Given the description of an element on the screen output the (x, y) to click on. 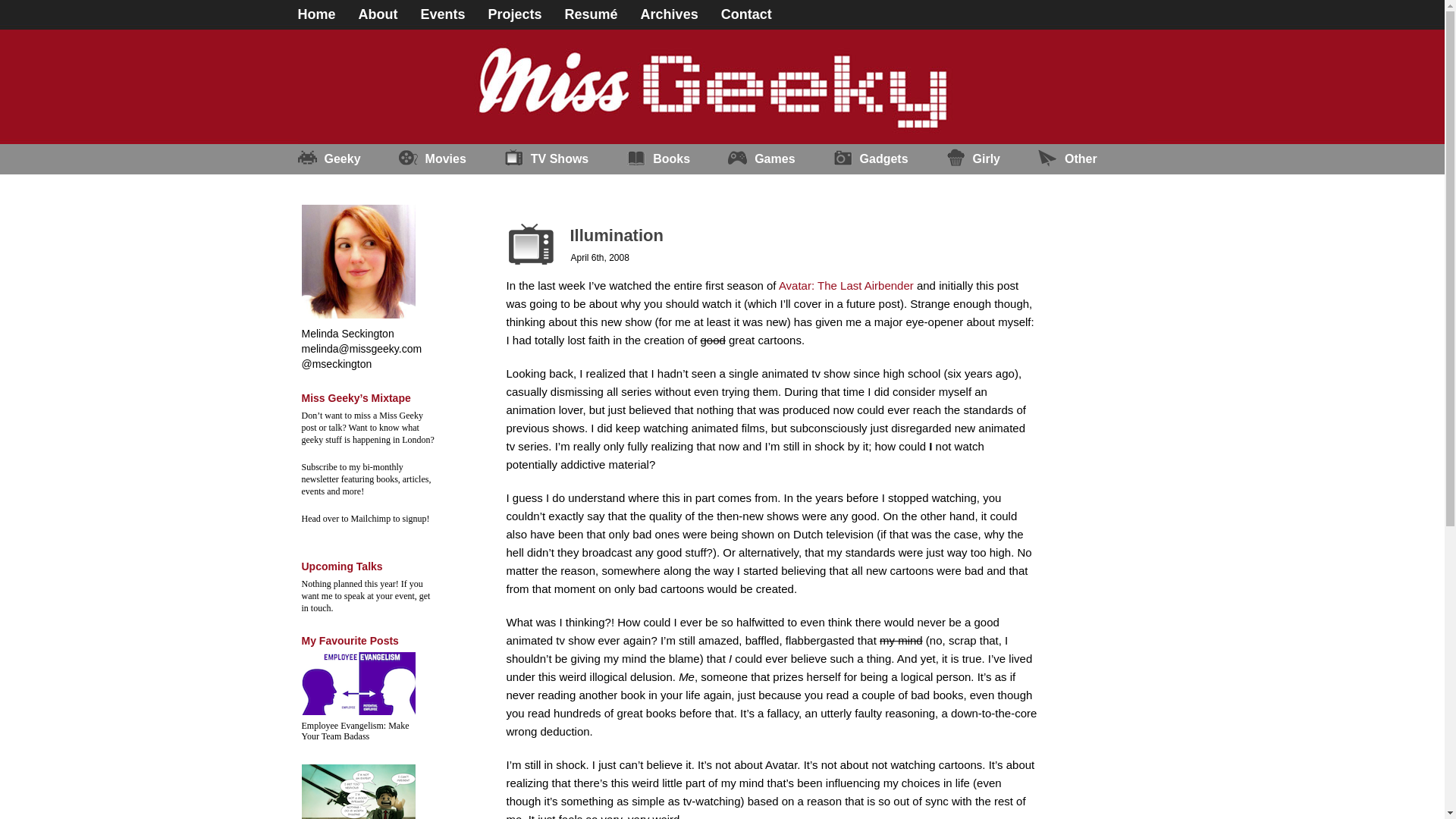
Employee Evangelism: Make Your Team Badass (355, 731)
Avatar: The Last Airbender (846, 285)
Geeky (347, 159)
Events (453, 10)
Archives (680, 10)
Home (327, 10)
Projects (525, 10)
Books (677, 159)
Gadgets (889, 159)
Head over to Mailchimp to signup! (365, 518)
Other (1086, 159)
Games (780, 159)
Contact (757, 10)
About (389, 10)
Movies (450, 159)
